Given the description of an element on the screen output the (x, y) to click on. 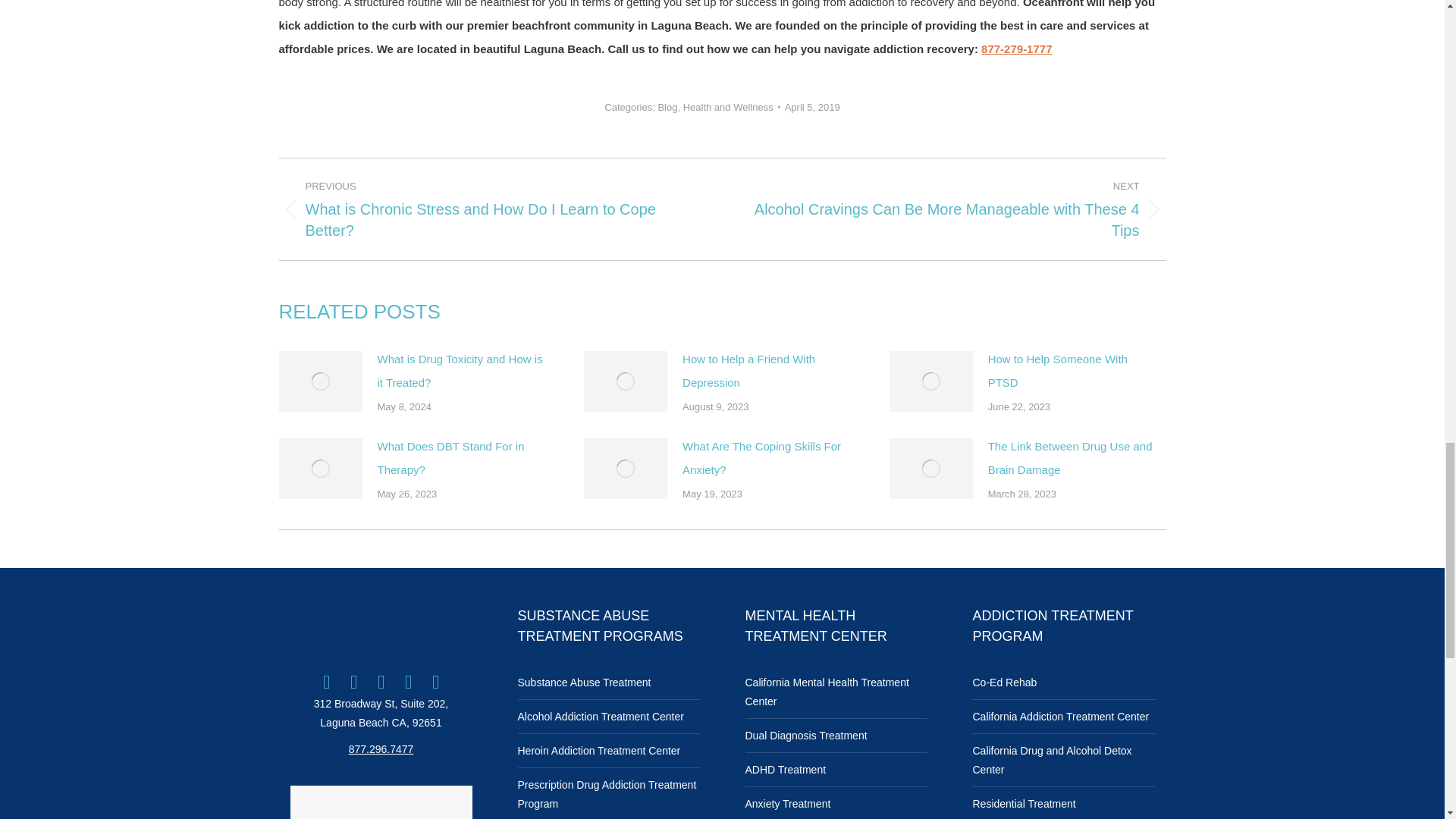
Ocean-Recovery-Logo-450 (380, 626)
YouTube (408, 681)
12:00 am (812, 107)
Facebook (326, 681)
Twitter (353, 681)
Pinterest (435, 681)
Instagram (381, 681)
